Given the description of an element on the screen output the (x, y) to click on. 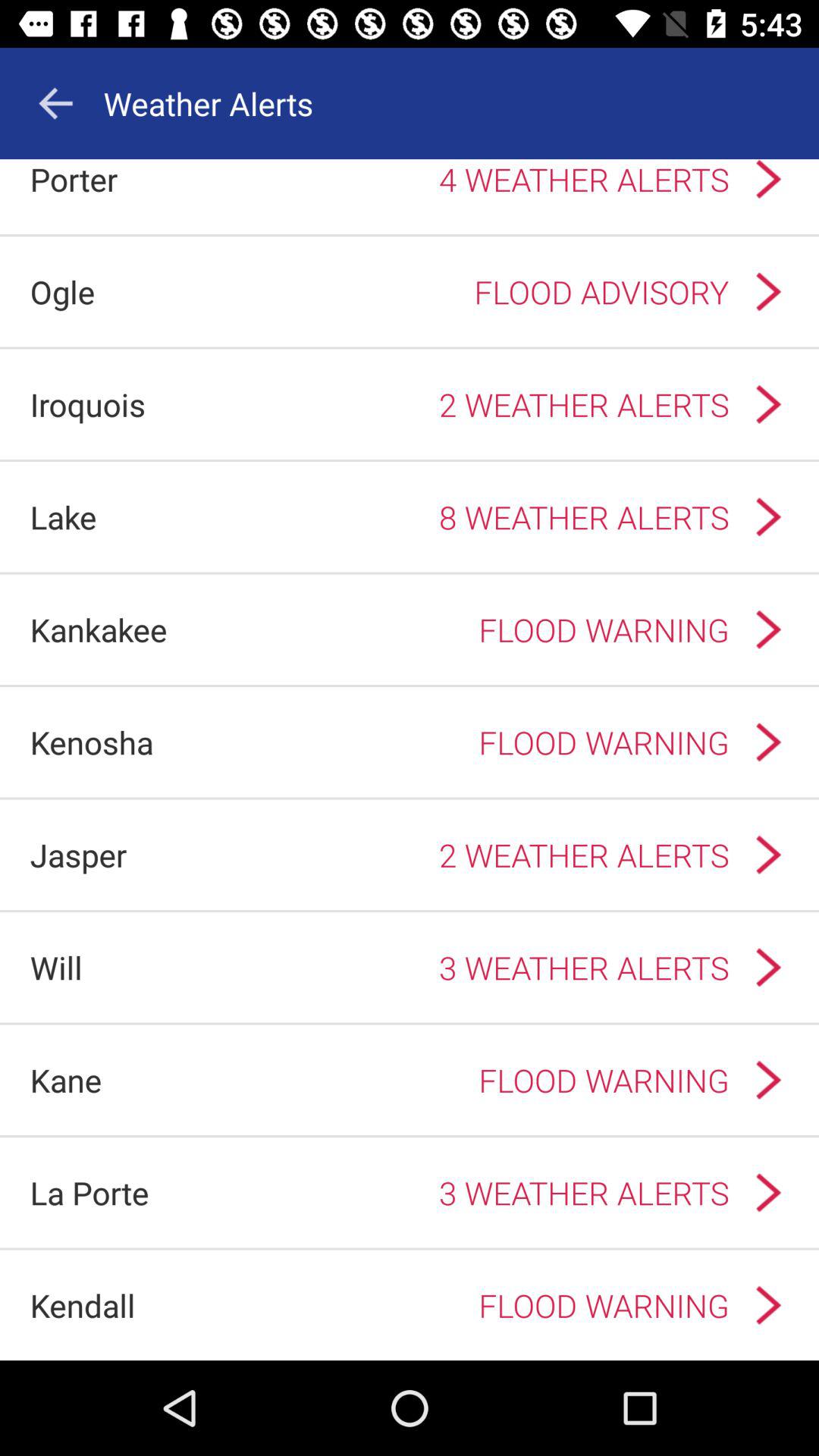
open app above la porte icon (65, 1079)
